Given the description of an element on the screen output the (x, y) to click on. 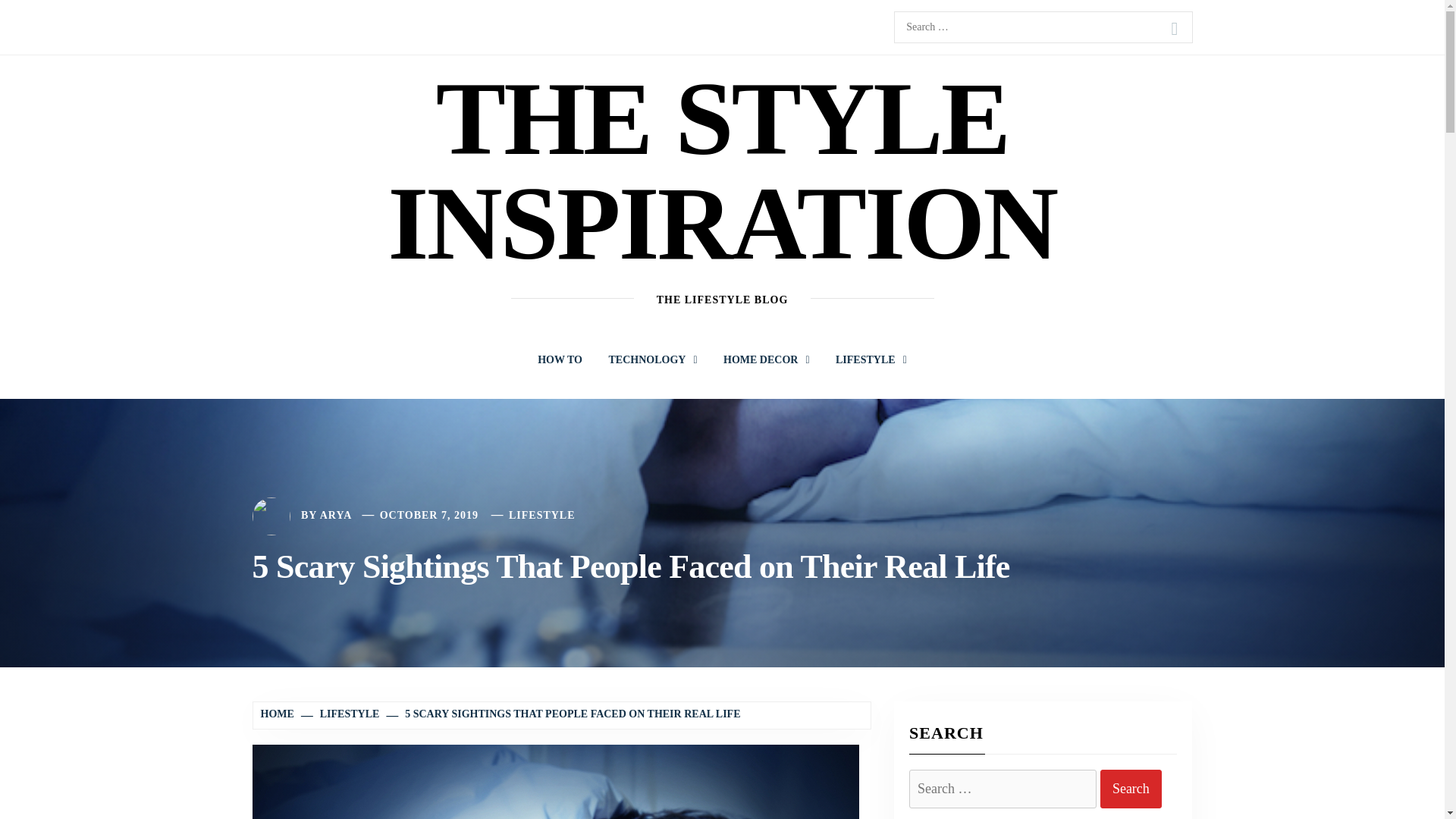
OCTOBER 7, 2019 (429, 514)
Search (1174, 28)
LIFESTYLE (871, 359)
TECHNOLOGY (651, 359)
HOME (279, 713)
HOW TO (559, 359)
HOME DECOR (766, 359)
Search (1174, 28)
Search (1174, 28)
5 SCARY SIGHTINGS THAT PEOPLE FACED ON THEIR REAL LIFE (564, 713)
ARYA (336, 514)
Search (1130, 788)
LIFESTYLE (341, 713)
Search (1130, 788)
